Given the description of an element on the screen output the (x, y) to click on. 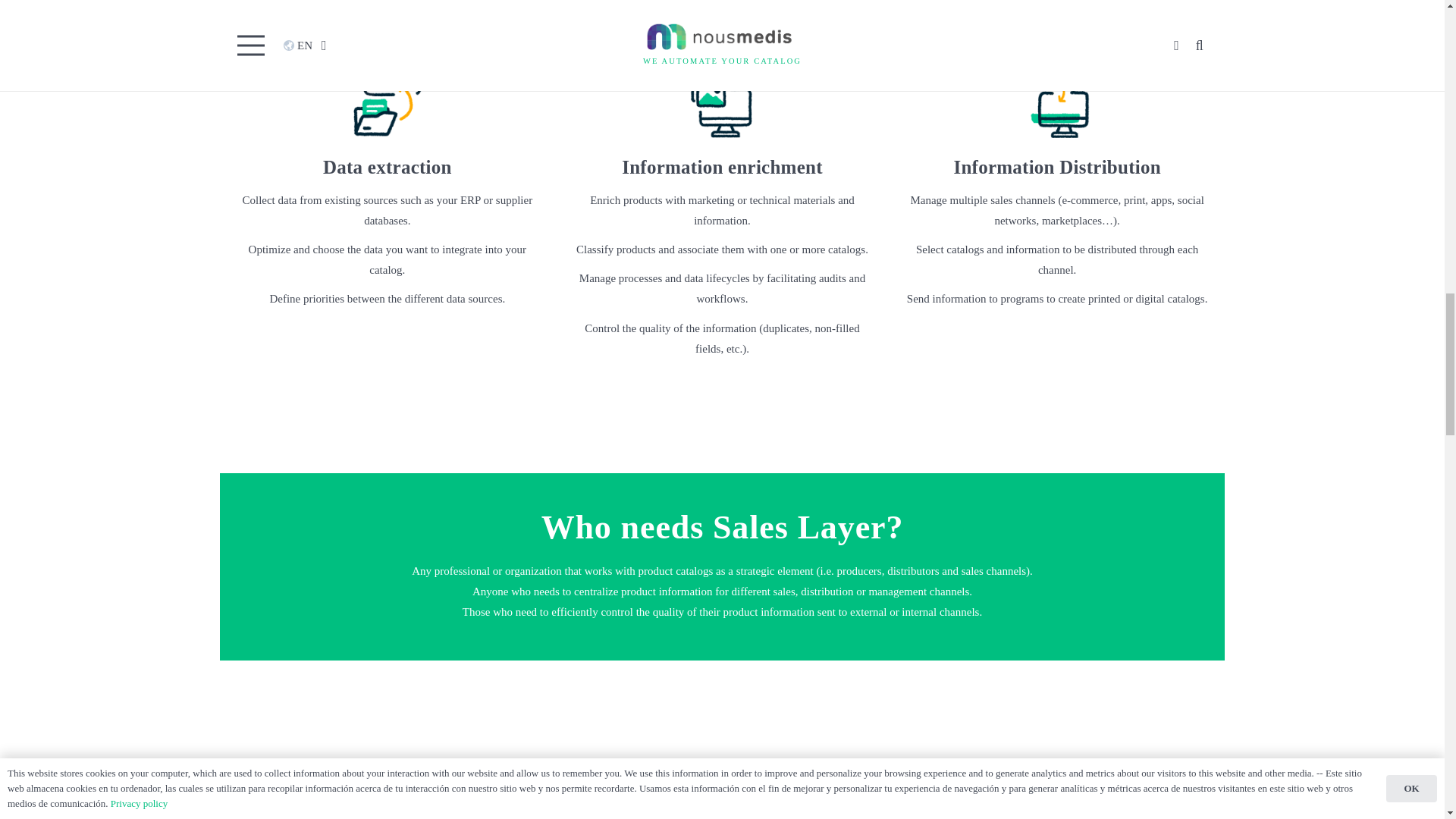
Sales Layer (599, 1)
